Given the description of an element on the screen output the (x, y) to click on. 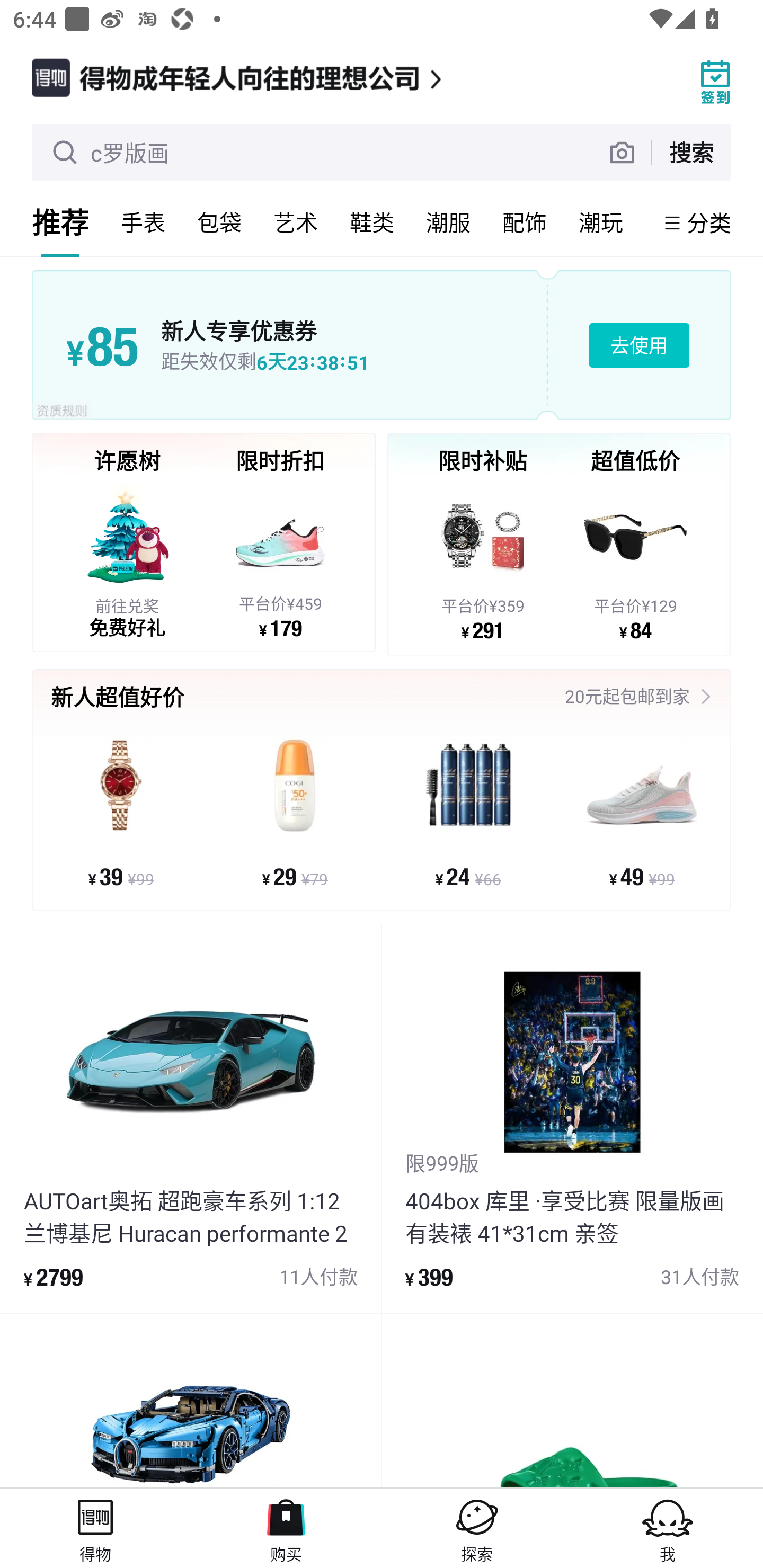
搜索 (690, 152)
推荐 (60, 222)
手表 (143, 222)
包袋 (219, 222)
艺术 (295, 222)
鞋类 (372, 222)
潮服 (448, 222)
配饰 (524, 222)
潮玩 (601, 222)
分类 (708, 222)
平台价¥459 ¥ 179 (279, 559)
前往兑奖 免费好礼 (127, 559)
平台价¥359 ¥ 291 (482, 560)
平台价¥129 ¥ 84 (635, 560)
¥ 39 ¥99 (121, 813)
¥ 29 ¥79 (294, 813)
¥ 24 ¥66 (468, 813)
¥ 49 ¥99 (641, 813)
得物 (95, 1528)
购买 (285, 1528)
探索 (476, 1528)
我 (667, 1528)
